Given the description of an element on the screen output the (x, y) to click on. 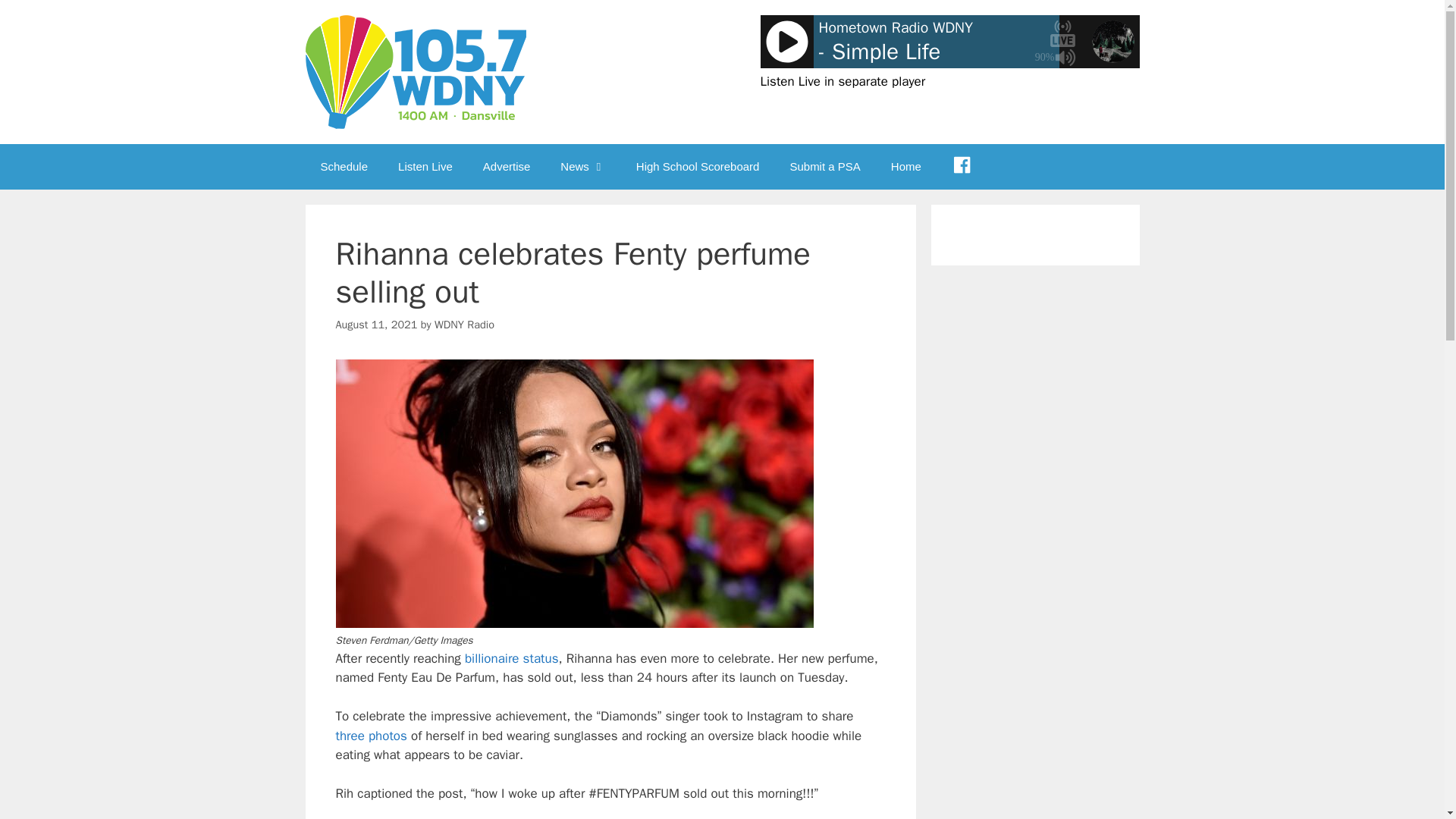
Listen Live (424, 166)
Advertise (506, 166)
Menu Item (961, 166)
WDNY Radio (464, 324)
Home (906, 166)
High School Scoreboard (697, 166)
Submit a PSA (824, 166)
three photos (370, 735)
News (582, 166)
Listen Live in separate player (842, 81)
View all posts by WDNY Radio (464, 324)
Schedule (343, 166)
billionaire status (511, 658)
